Given the description of an element on the screen output the (x, y) to click on. 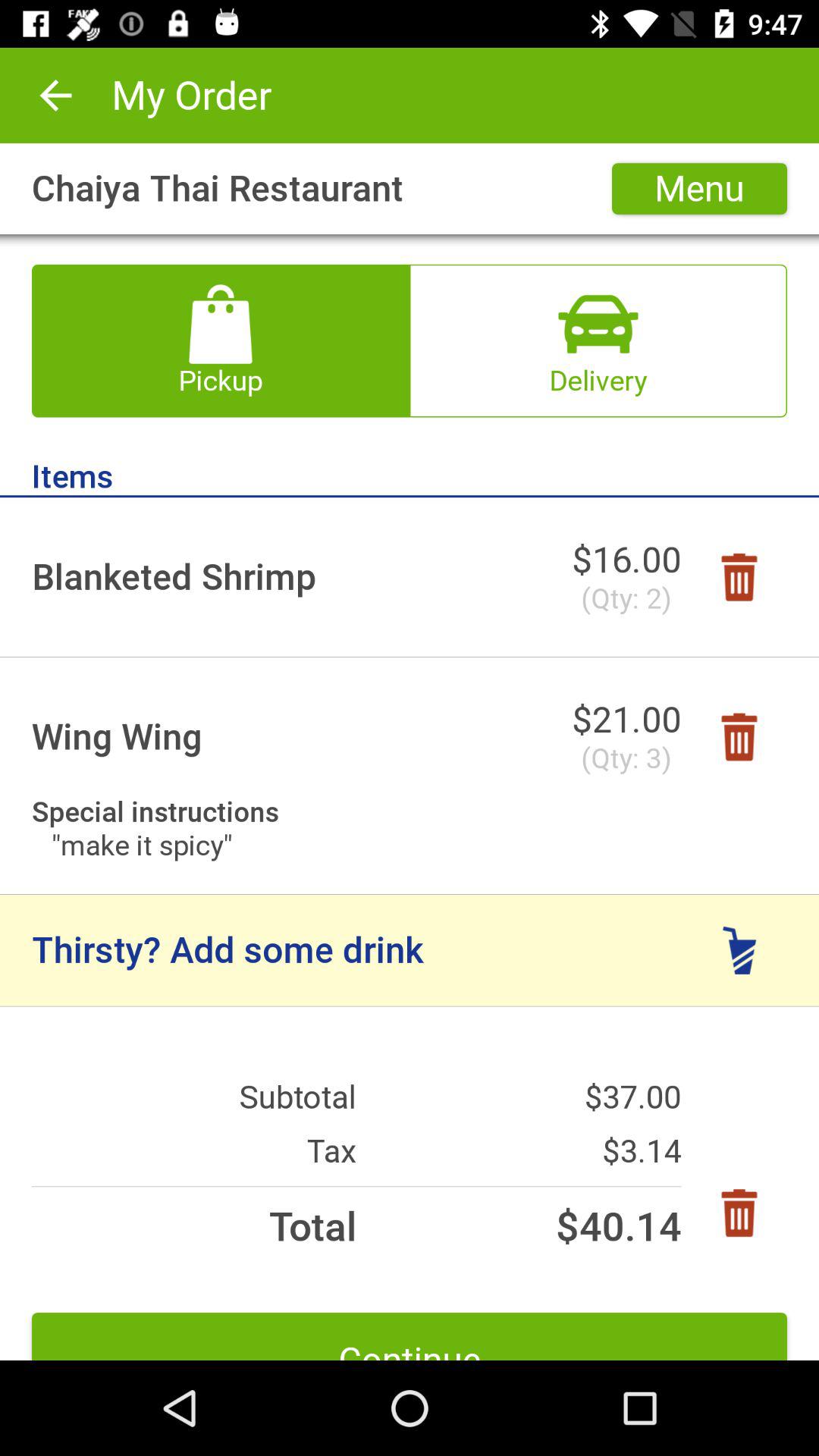
open the icon next to my order (55, 95)
